Given the description of an element on the screen output the (x, y) to click on. 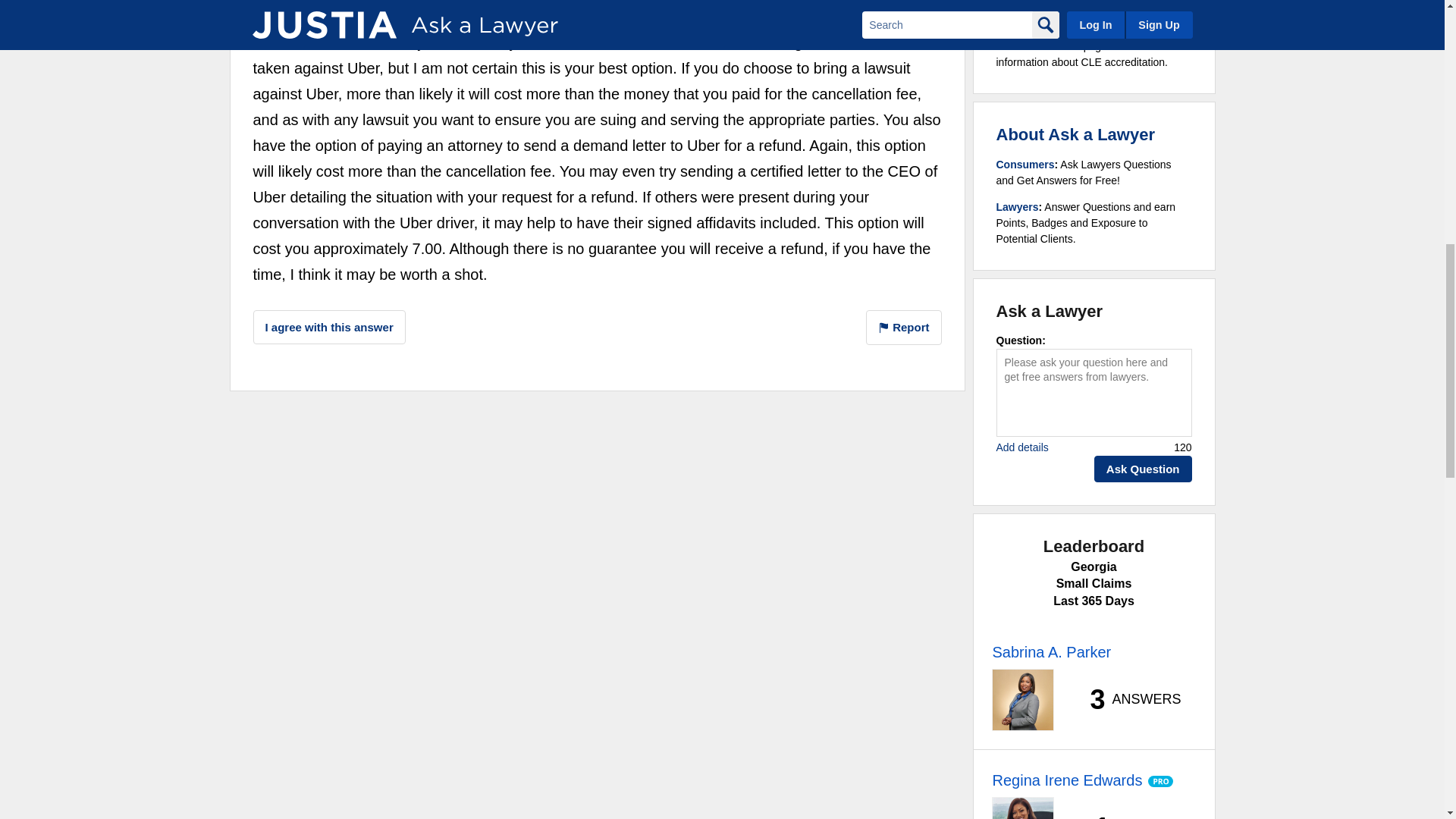
Report (904, 327)
Ask a Lawyer - Leaderboard - Lawyer Name (1050, 651)
Ask a Lawyer - Leaderboard - Lawyer Photo (1021, 808)
Ask a Lawyer - Leaderboard - Lawyer Name (1066, 780)
Ask a Lawyer - Leaderboard - Lawyer Stats (1127, 699)
Ask a Lawyer - FAQs - Lawyers (1017, 206)
Ask a Lawyer - FAQs - Consumers (1024, 164)
Ask a Lawyer - Leaderboard - Lawyer Photo (1021, 699)
Ask a Lawyer - Leaderboard - Lawyer Stats (1127, 816)
